Given the description of an element on the screen output the (x, y) to click on. 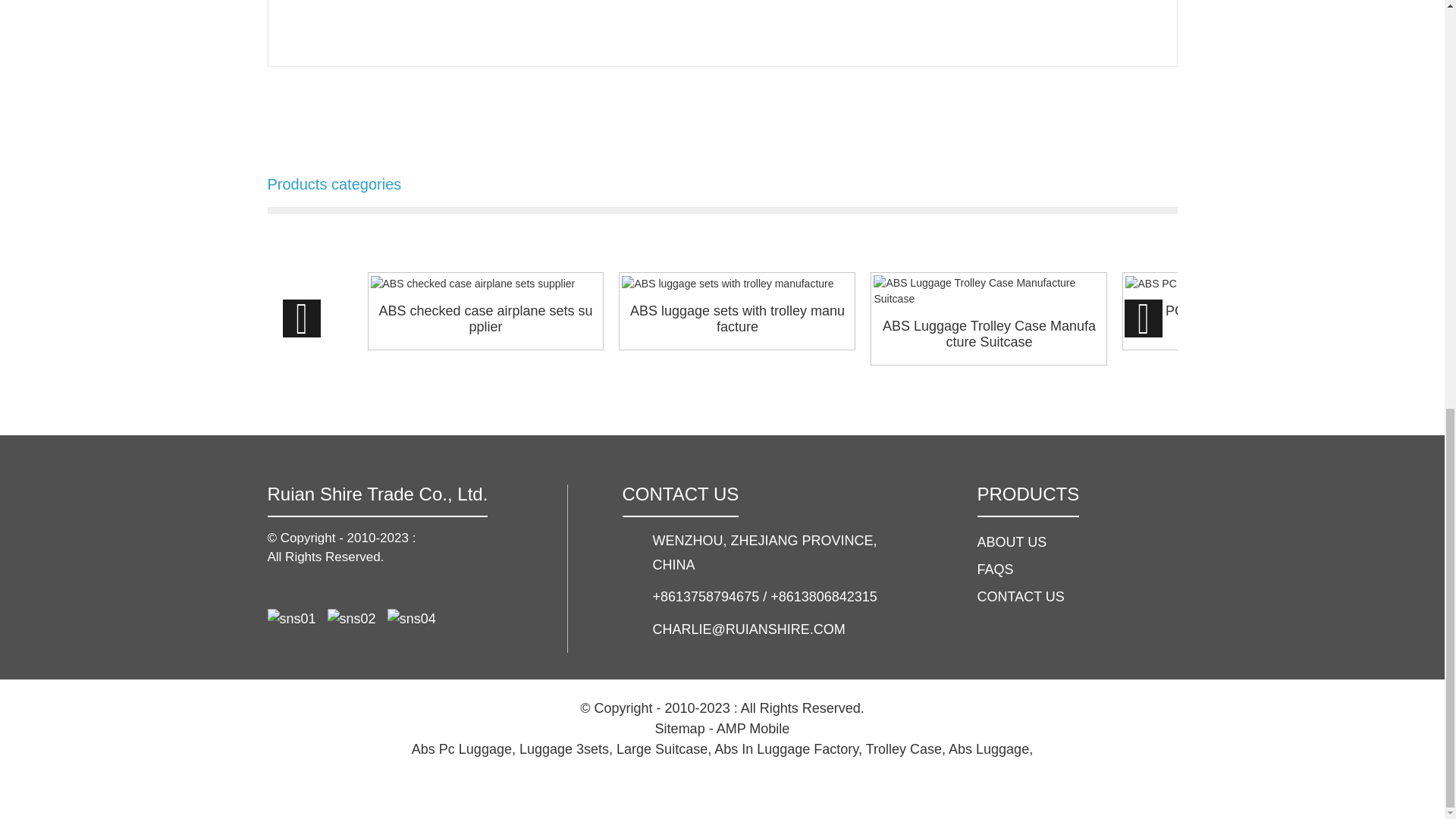
ABS luggage sets with trolley manufacture (736, 319)
ABS checked case airplane sets supplier (484, 319)
ABS checked case airplane sets supplier (484, 319)
ABS checked case airplane sets supplier (484, 283)
ABS luggage sets with trolley manufacture (736, 283)
ABS Luggage Trolley Case Manufacture Suitcase (988, 291)
ABS PC hand luggage travel suitcase sets (1240, 319)
ABS Luggage Trolley Case Manufacture Suitcase (988, 334)
ABS PC hand luggage travel suitcase sets (1240, 319)
ABS luggage sets with trolley manufacture (736, 319)
ABS Luggage Trolley Case Manufacture Suitcase (988, 334)
ABS PC hand luggage travel suitcase sets (1240, 283)
